Given the description of an element on the screen output the (x, y) to click on. 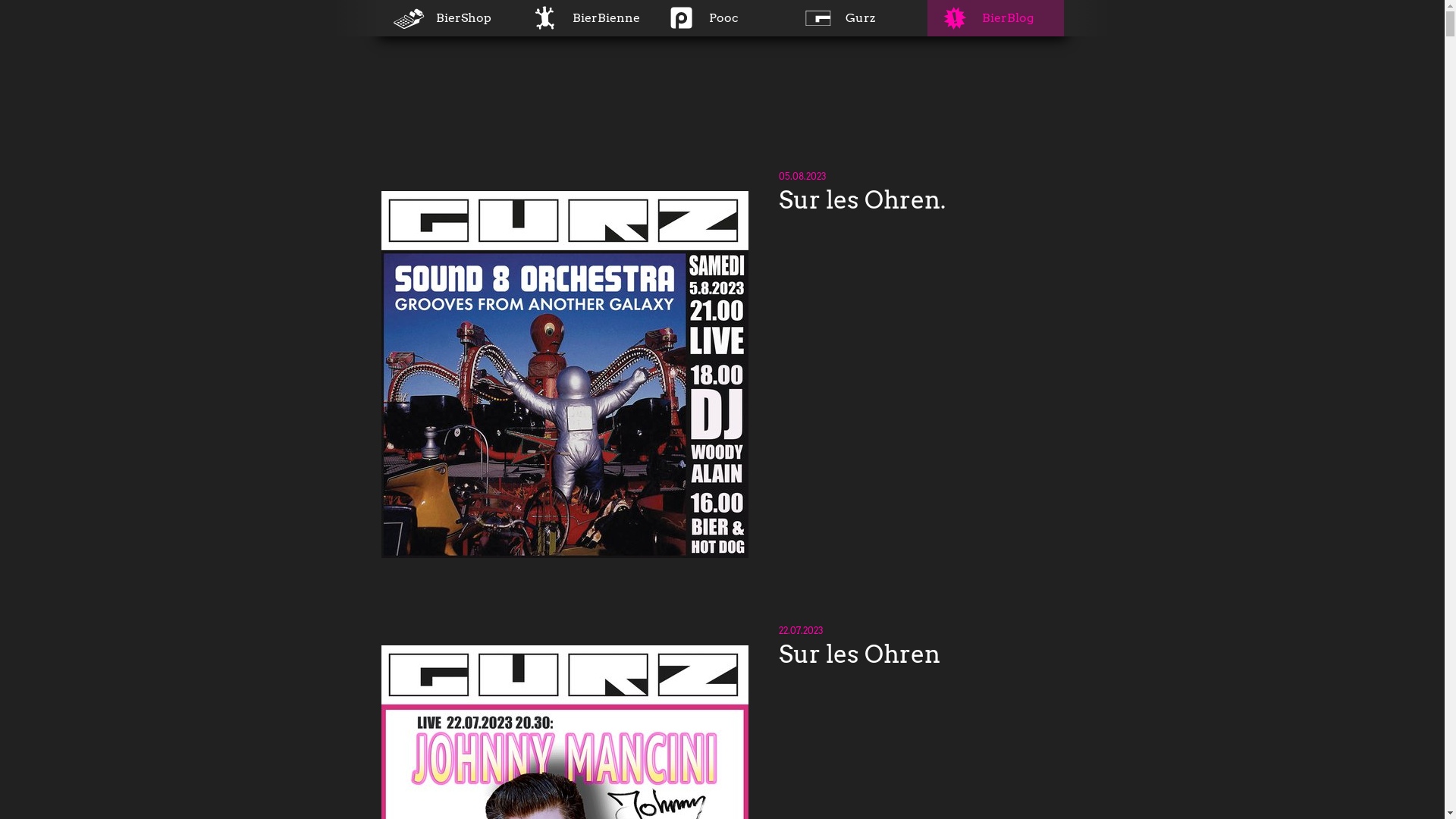
BierBienne Element type: text (585, 18)
Pooc Element type: text (721, 18)
BierBlog Element type: text (994, 18)
Gurz Element type: text (858, 18)
BierShop Element type: text (448, 18)
